Given the description of an element on the screen output the (x, y) to click on. 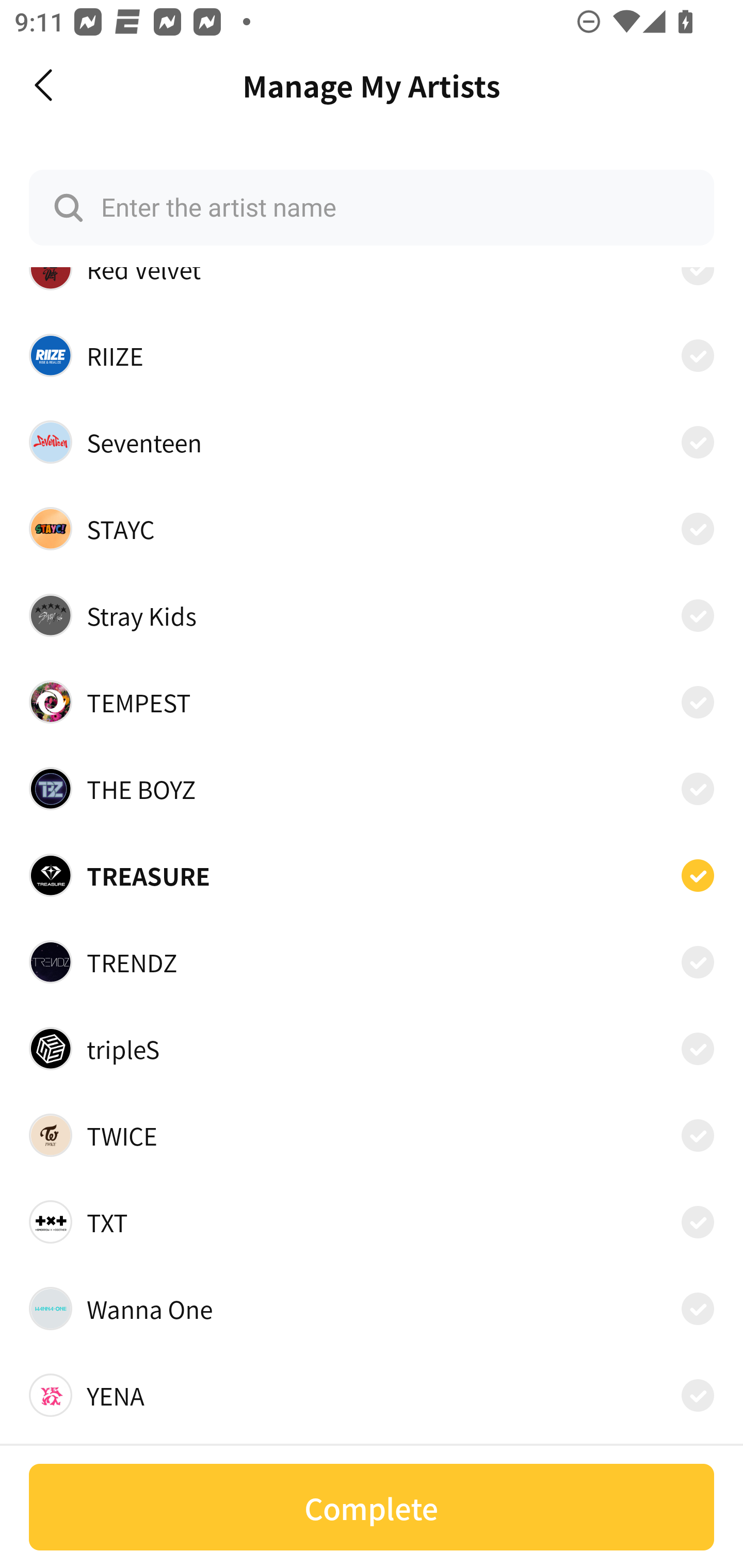
Enter the artist name (371, 207)
RIIZE (371, 354)
Seventeen (371, 442)
STAYC (371, 528)
Stray Kids (371, 615)
TEMPEST (371, 702)
THE BOYZ (371, 788)
TREASURE (371, 874)
TRENDZ (371, 961)
tripleS (371, 1048)
TWICE (371, 1135)
TXT (371, 1221)
Wanna One (371, 1308)
YENA (371, 1395)
Complete (371, 1507)
